Given the description of an element on the screen output the (x, y) to click on. 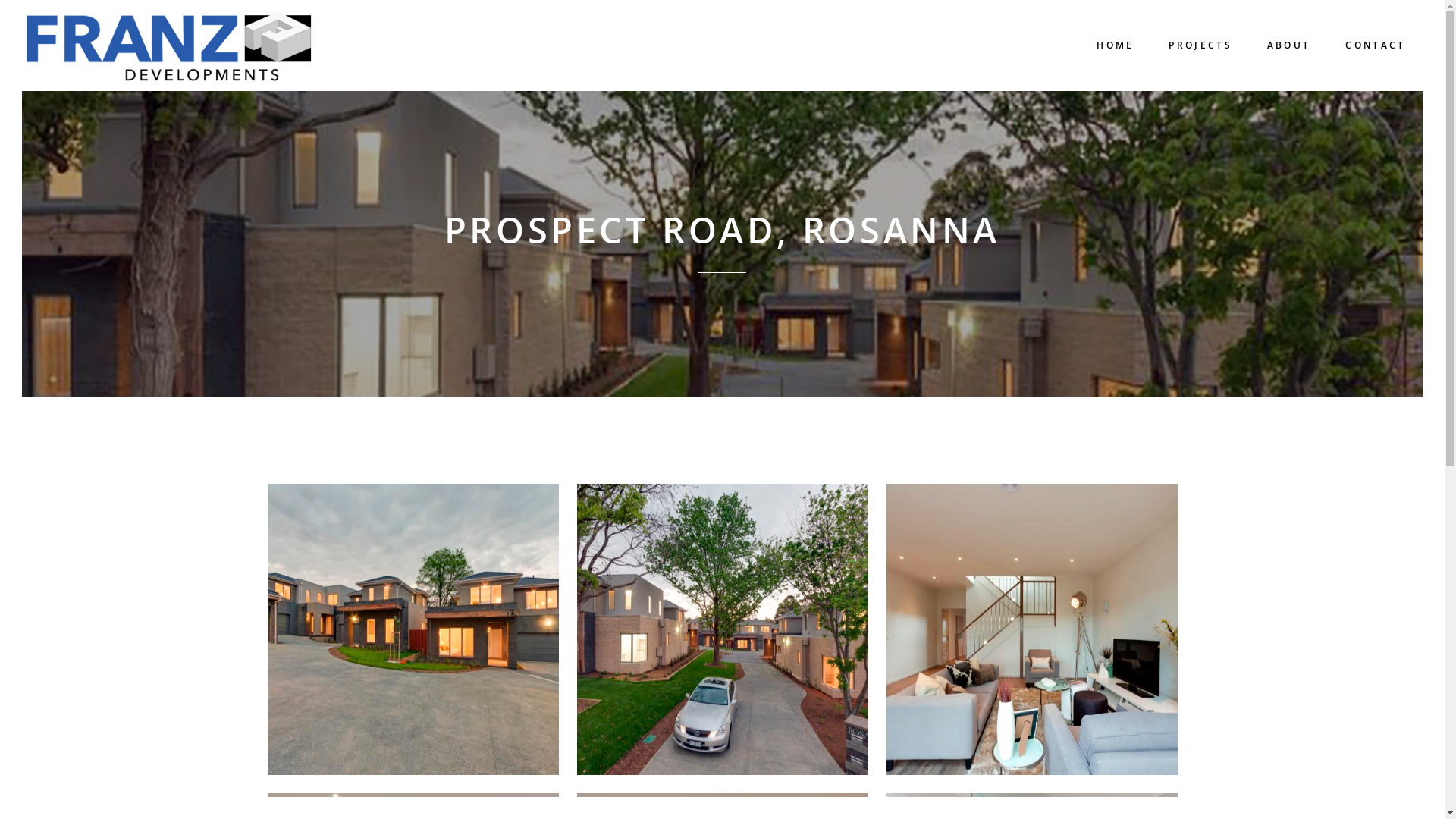
HOME Element type: text (1115, 45)
PROJECTS Element type: text (1199, 45)
ABOUT Element type: text (1288, 45)
CONTACT Element type: text (1374, 45)
